Given the description of an element on the screen output the (x, y) to click on. 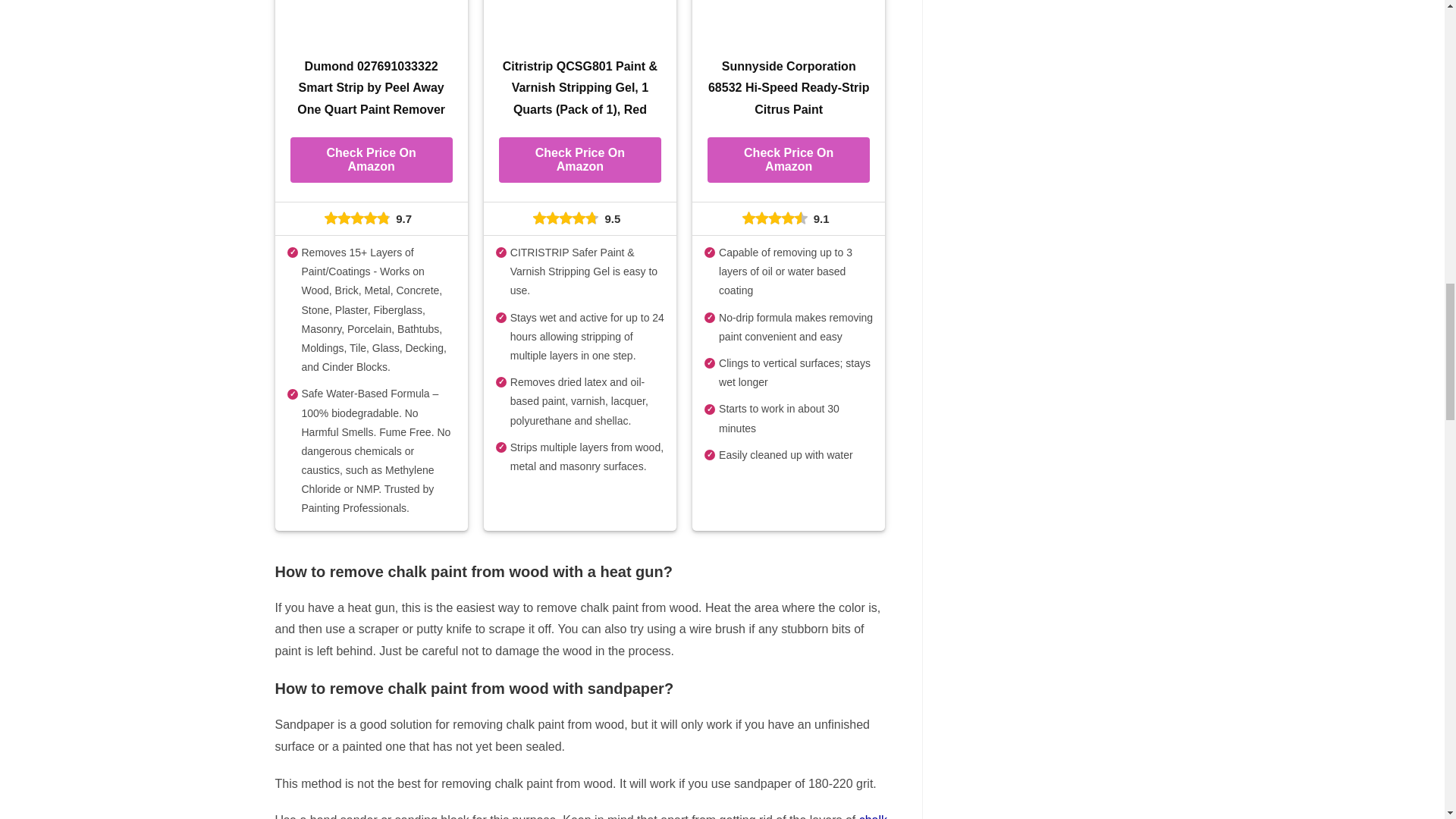
Check Price On Amazon (788, 159)
Check Price On Amazon (370, 159)
Check Price On Amazon (580, 159)
